Given the description of an element on the screen output the (x, y) to click on. 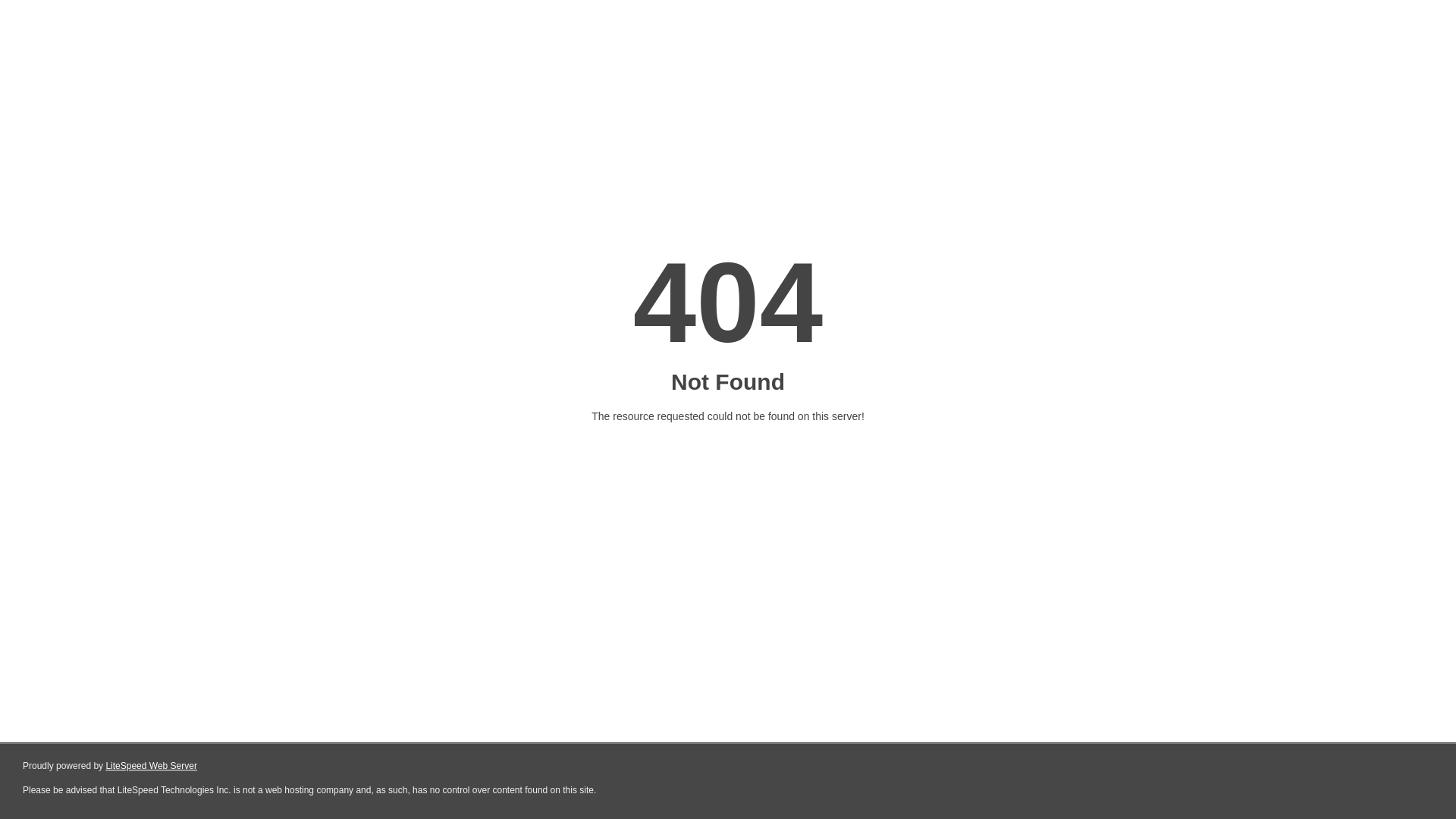
LiteSpeed Web Server Element type: text (151, 765)
